Given the description of an element on the screen output the (x, y) to click on. 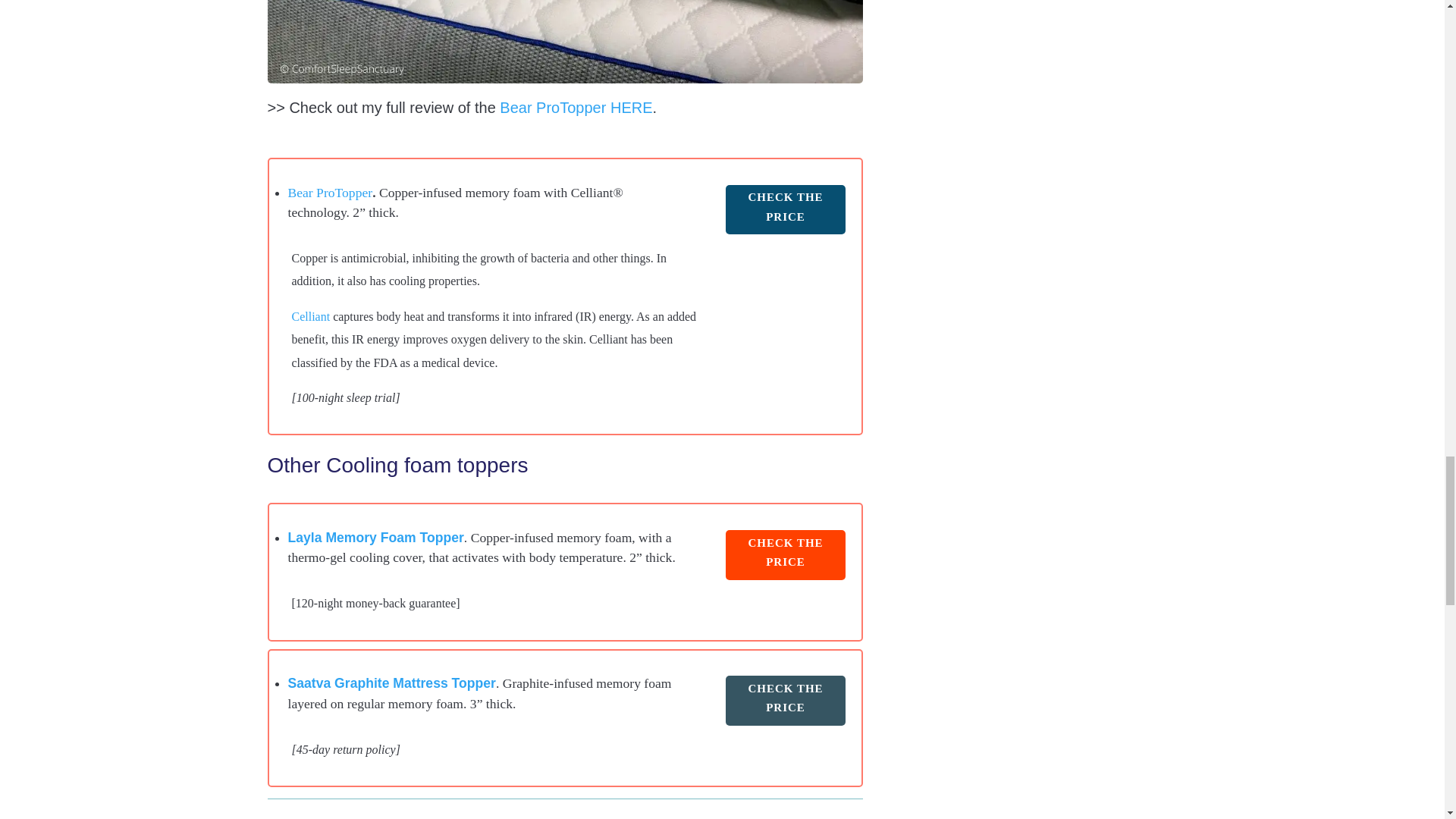
Bear mattress topper (563, 42)
Layla Memory Foam Topper (376, 540)
CHECK THE PRICE (785, 210)
Celliant (310, 320)
Bear ProTopper (330, 196)
CHECK THE PRICE (785, 700)
Bear ProTopper HERE (575, 111)
Saatva Graphite Mattress Topper (392, 686)
CHECK THE PRICE (785, 554)
